Given the description of an element on the screen output the (x, y) to click on. 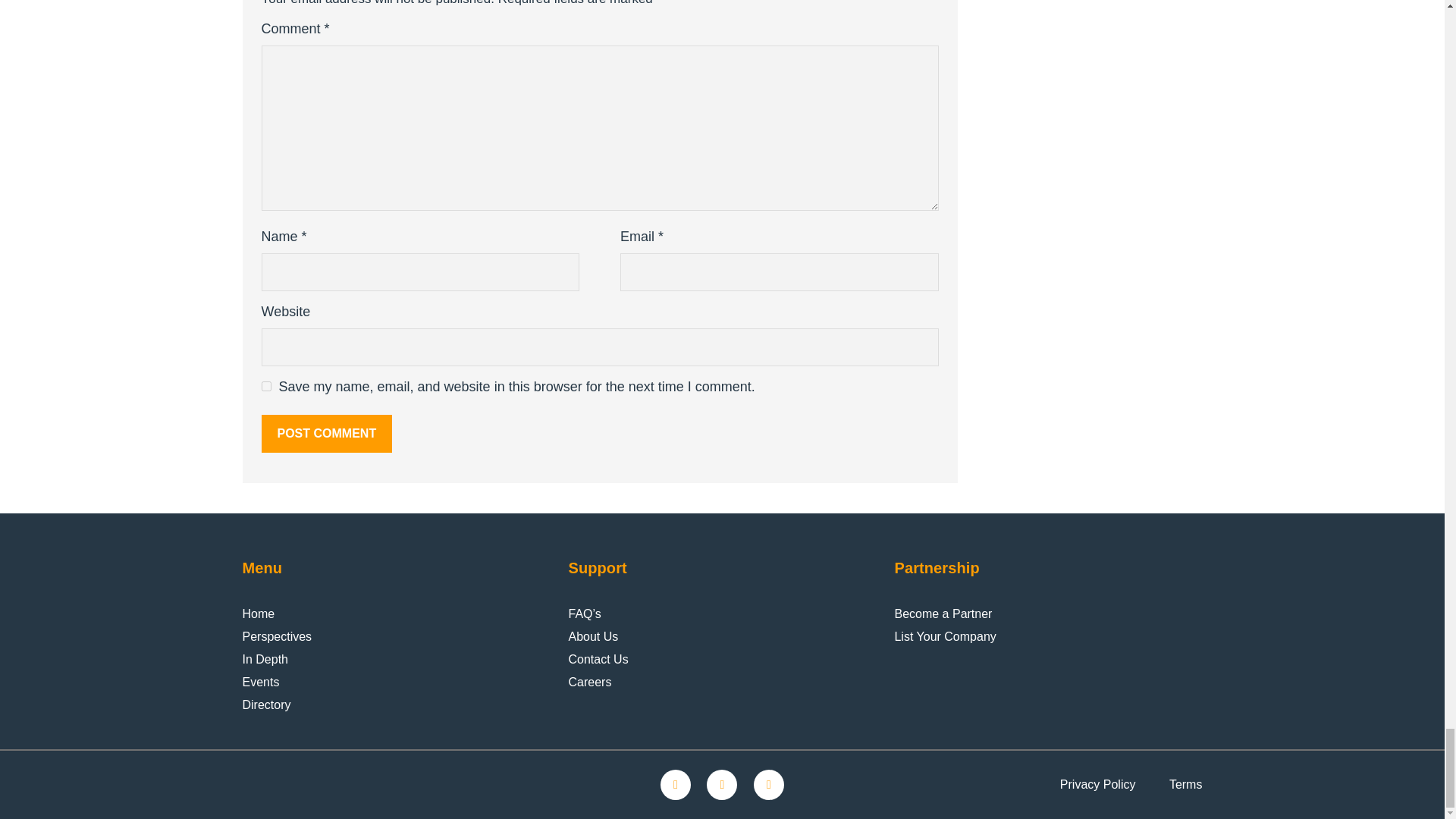
Home (259, 614)
Post Comment (325, 433)
Events (261, 682)
In Depth (265, 659)
Directory (267, 705)
yes (265, 386)
Post Comment (325, 433)
Perspectives (278, 637)
About Us (592, 637)
